Given the description of an element on the screen output the (x, y) to click on. 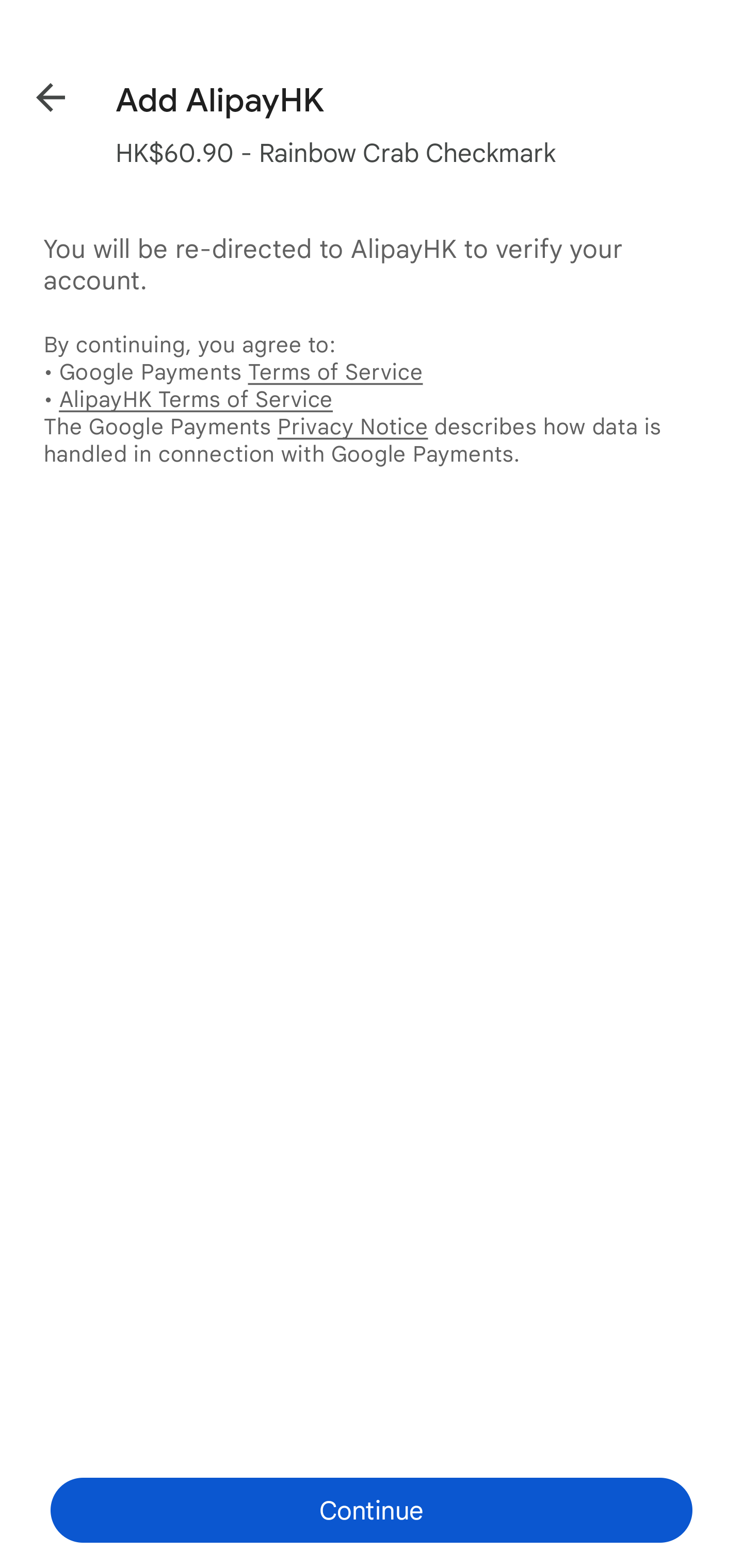
Back (36, 94)
Terms of Service (334, 372)
AlipayHK Terms of Service (195, 398)
Privacy Notice (352, 426)
Continue (371, 1510)
